Given the description of an element on the screen output the (x, y) to click on. 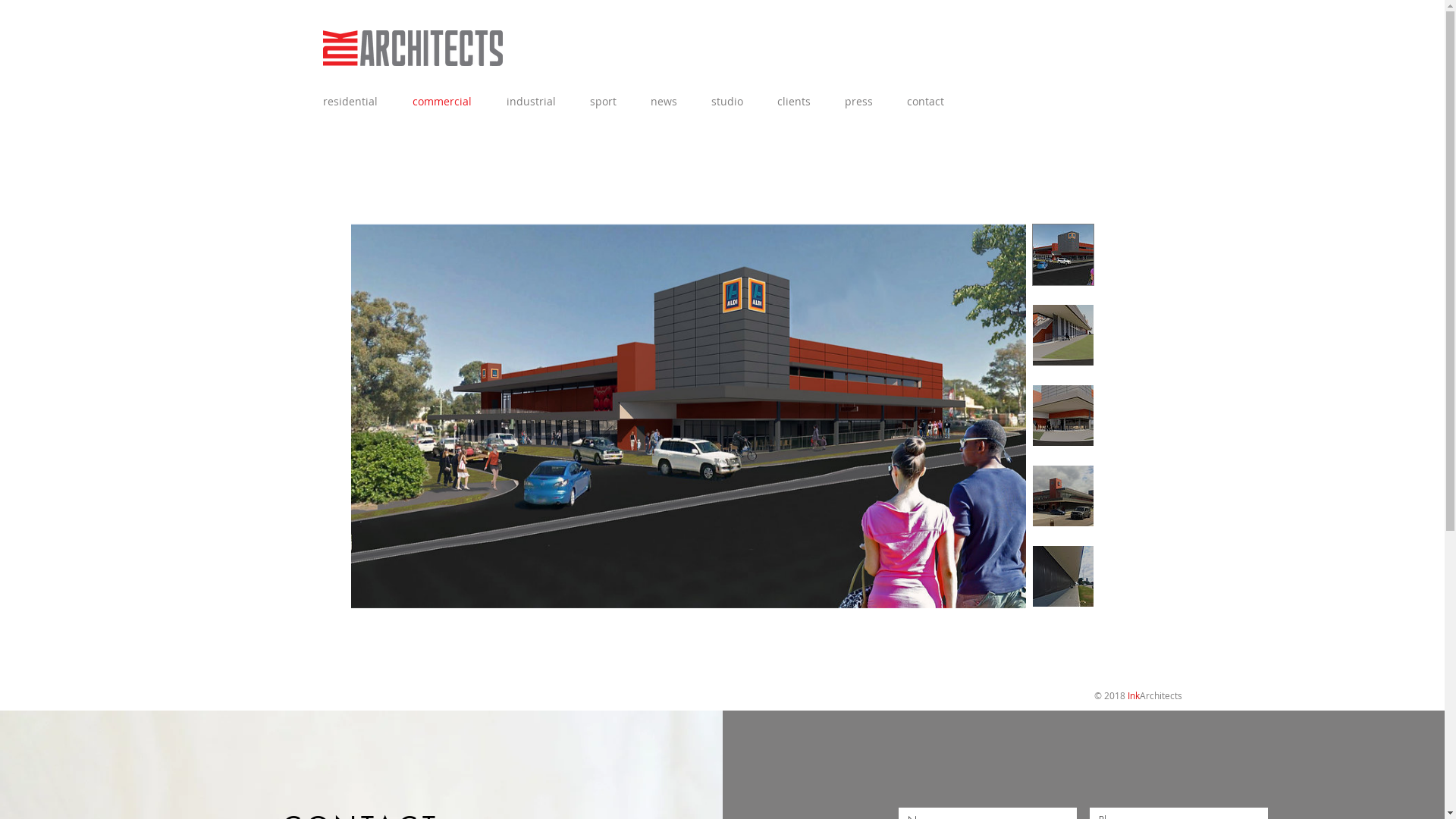
press Element type: text (863, 101)
sport Element type: text (607, 101)
news Element type: text (668, 101)
studio Element type: text (731, 101)
industrial Element type: text (535, 101)
residential Element type: text (354, 101)
commercial Element type: text (446, 101)
clients Element type: text (798, 101)
contact Element type: text (929, 101)
